Given the description of an element on the screen output the (x, y) to click on. 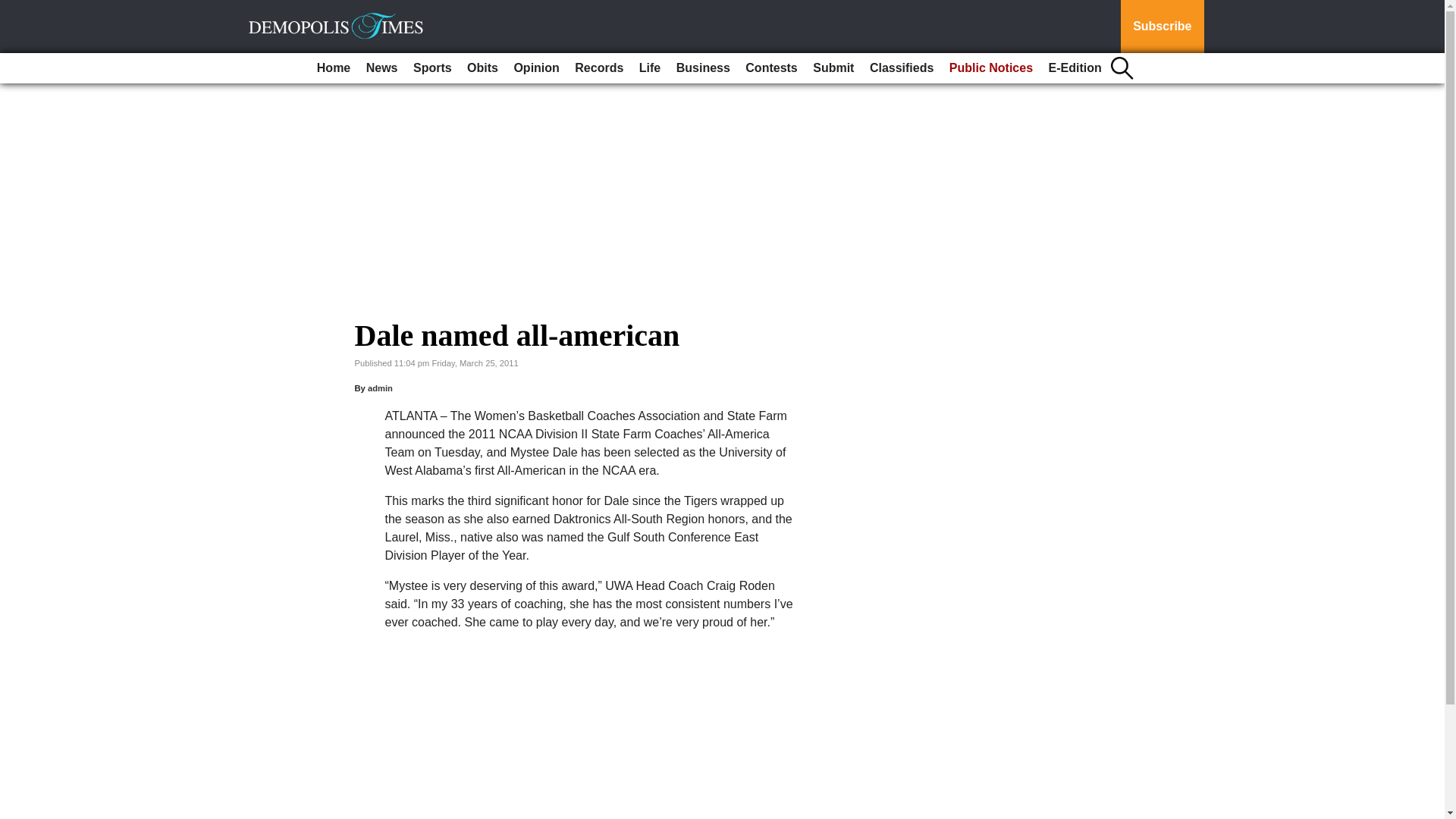
E-Edition (1075, 68)
Public Notices (991, 68)
Business (702, 68)
Subscribe (1162, 26)
admin (380, 388)
Classifieds (901, 68)
Life (649, 68)
Home (333, 68)
Obits (482, 68)
Contests (771, 68)
